Given the description of an element on the screen output the (x, y) to click on. 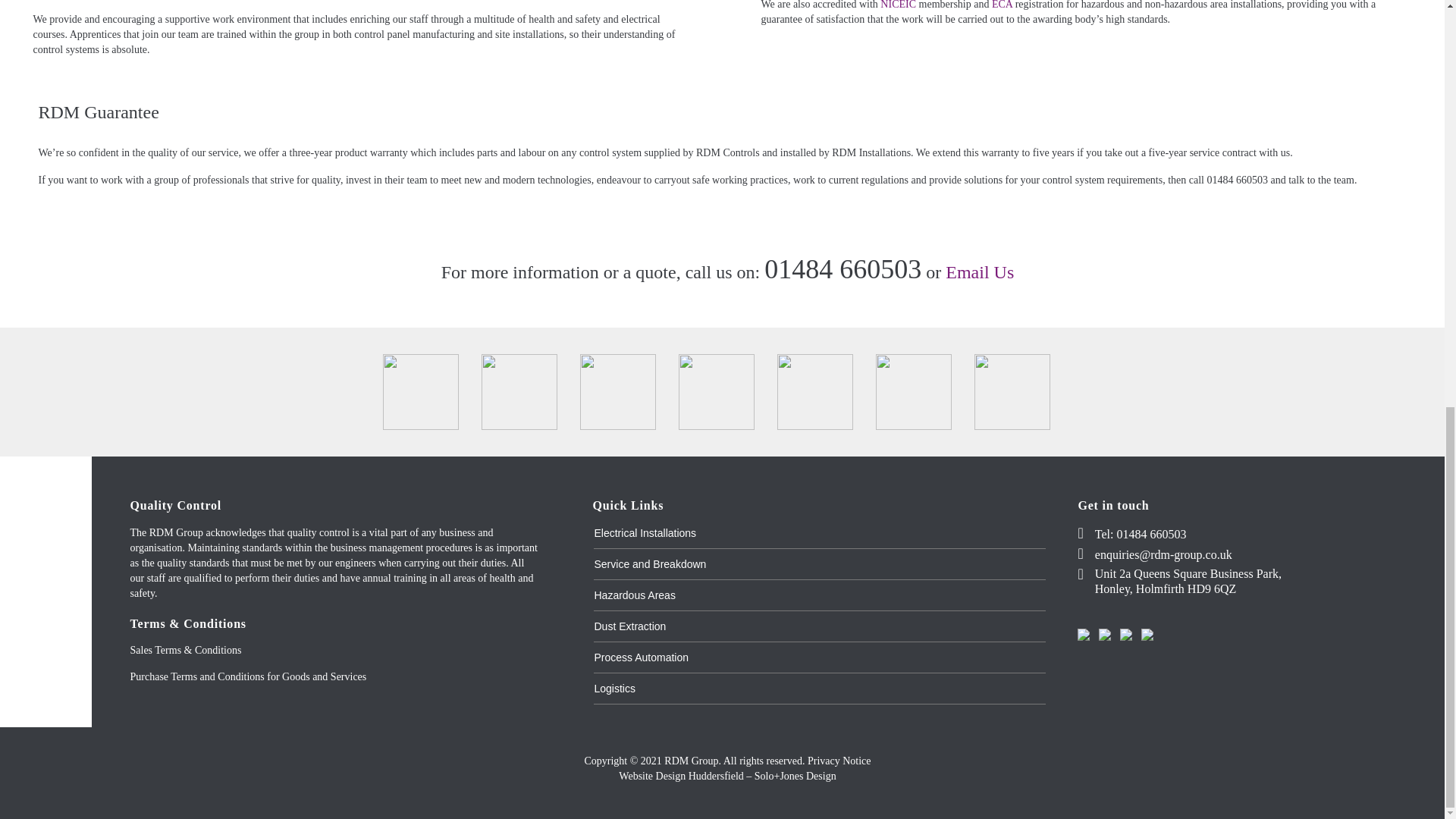
Dust Extraction (629, 625)
Purchase Terms and Conditions for Goods and Services (248, 676)
NICEIC (897, 4)
Hazardous Areas (634, 594)
Electrical Installations (644, 532)
ECA (1001, 4)
Email Us (978, 271)
Service and Breakdown (650, 563)
